Given the description of an element on the screen output the (x, y) to click on. 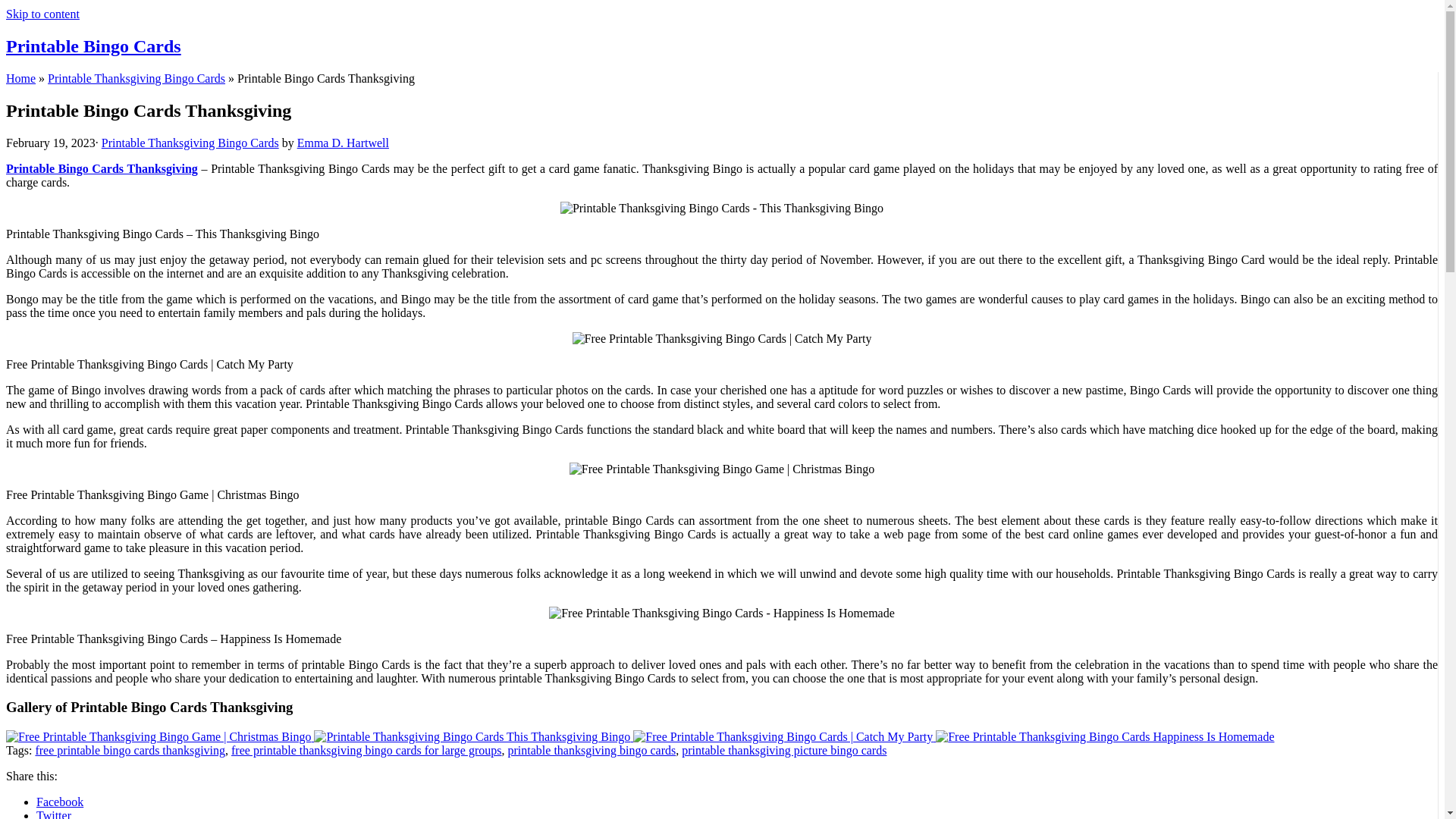
free printable thanksgiving bingo game christmas bingo 4 (722, 468)
printable thanksgiving picture bingo cards (783, 749)
Twitter (53, 814)
free printable bingo cards thanksgiving (129, 749)
Printable Bingo Cards (92, 46)
Printable Thanksgiving Bingo Cards (190, 142)
Skip to content (42, 13)
Home (19, 78)
